Given the description of an element on the screen output the (x, y) to click on. 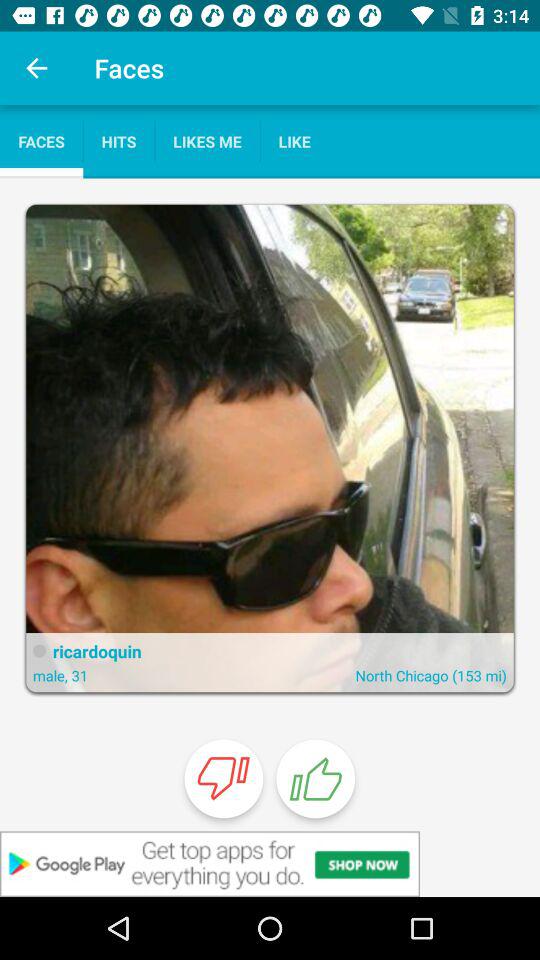
banner advertisement (270, 864)
